Given the description of an element on the screen output the (x, y) to click on. 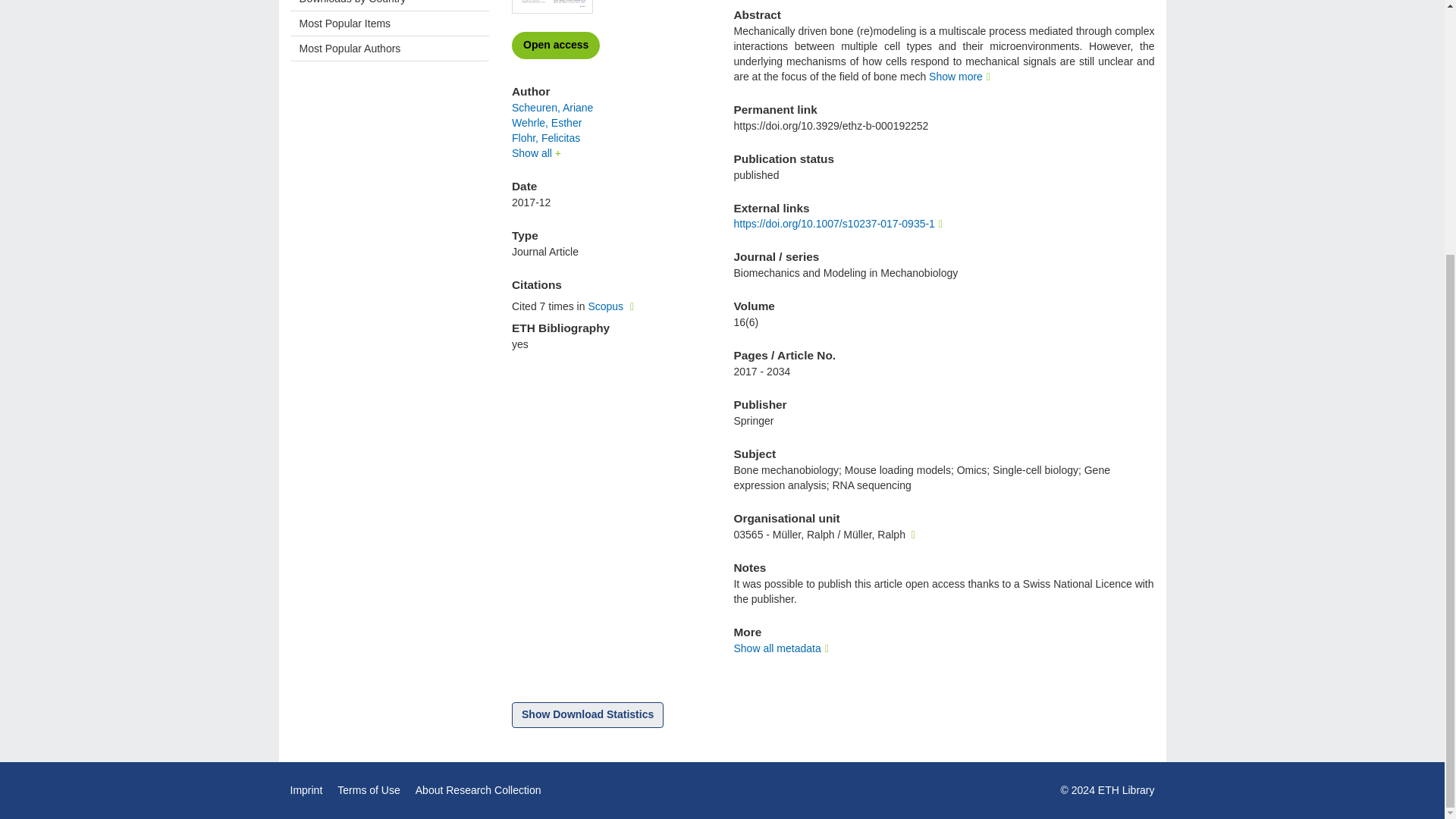
Show more (961, 76)
Show Download Statistics (587, 714)
Scheuren, Ariane (552, 107)
Show all (536, 152)
Scopus (612, 306)
Show all metadata (782, 648)
Flohr, Felicitas (545, 137)
Wehrle, Esther (546, 122)
